Given the description of an element on the screen output the (x, y) to click on. 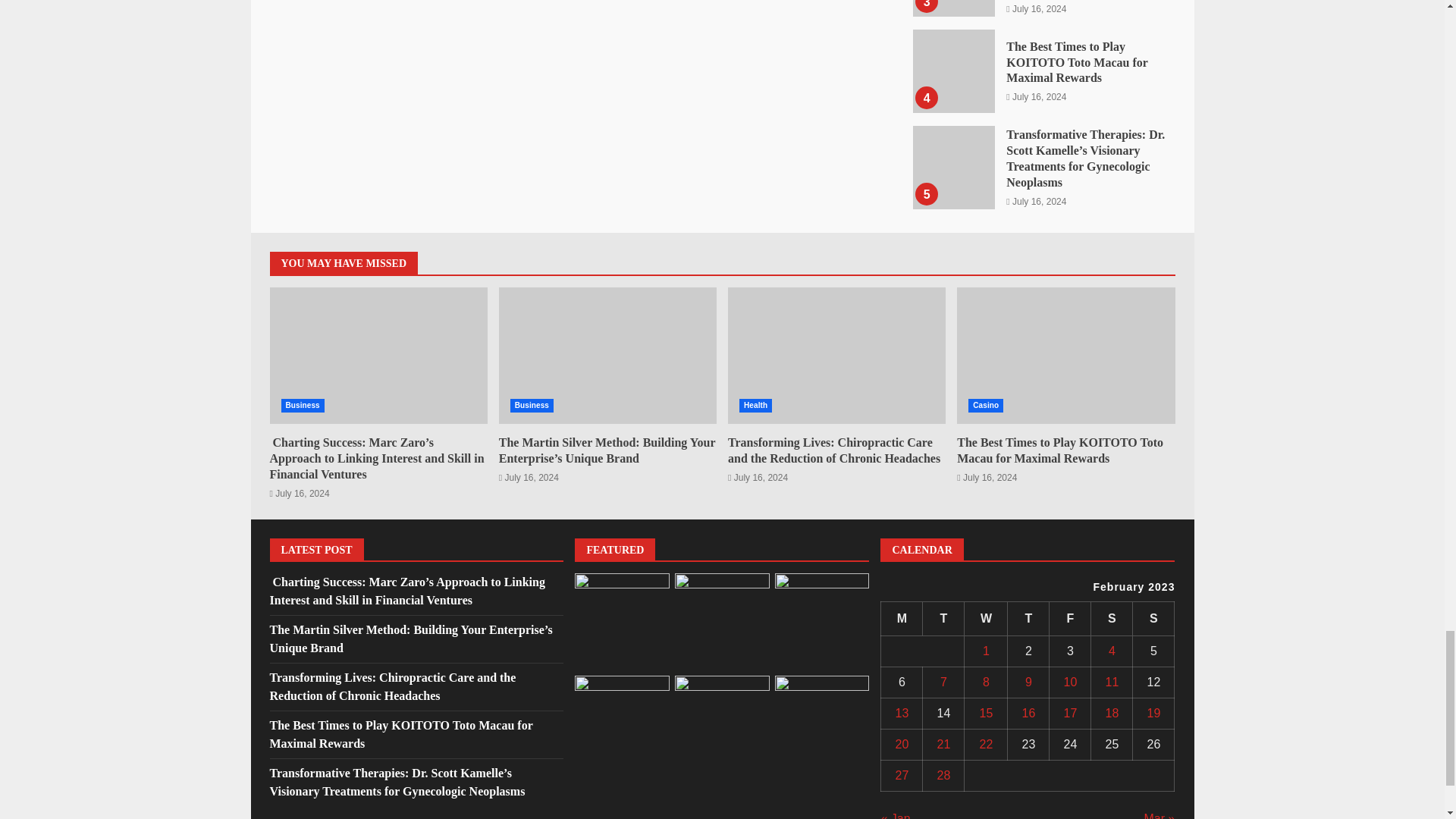
Friday (1069, 618)
Tuesday (943, 618)
Thursday (1028, 618)
Monday (901, 618)
Wednesday (985, 618)
Sunday (1153, 618)
Saturday (1111, 618)
